Given the description of an element on the screen output the (x, y) to click on. 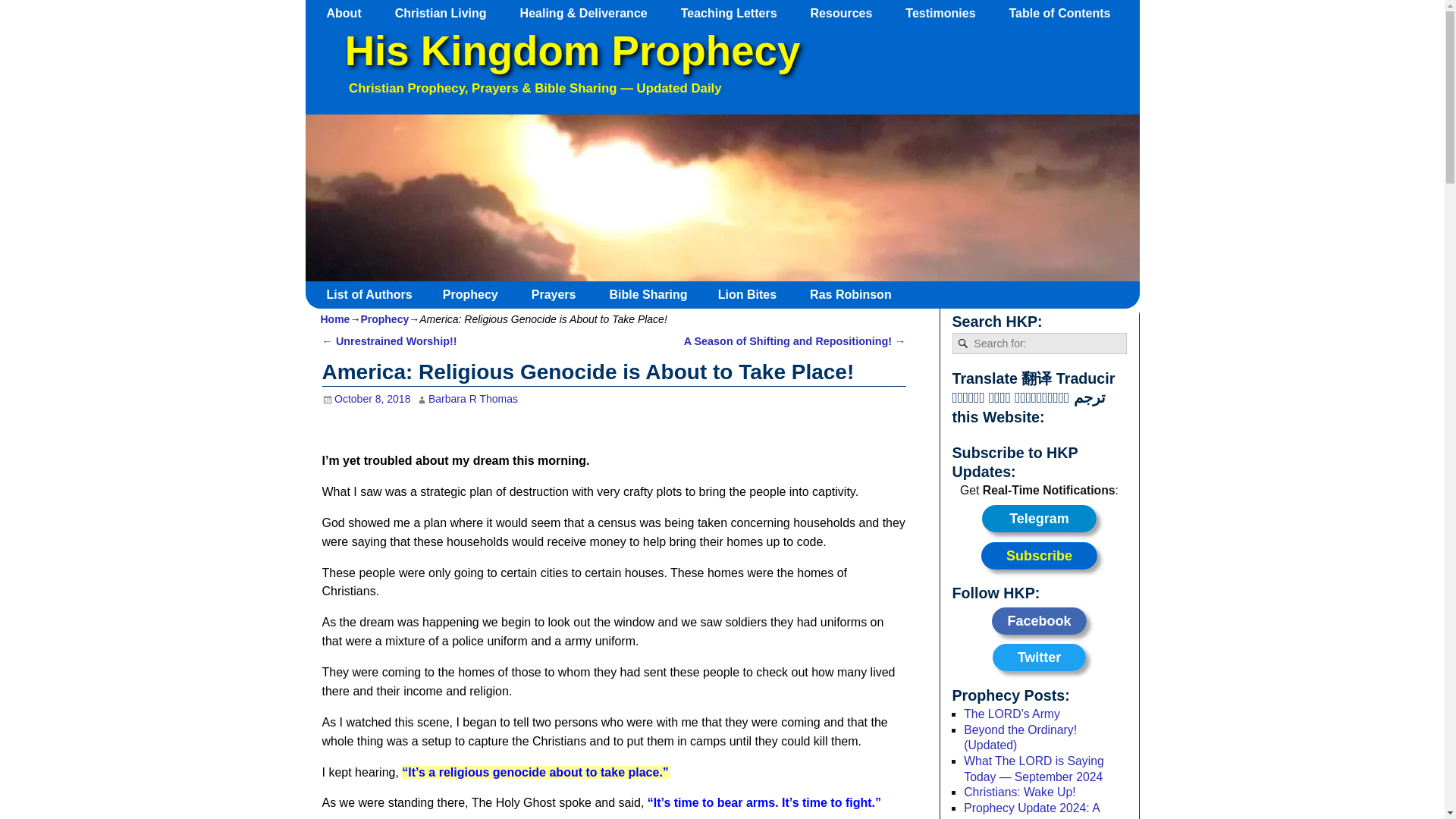
List of Authors (374, 294)
6:44 pm (365, 398)
Teaching Letters (736, 13)
Christian Living (448, 13)
His Kingdom Prophecy (571, 50)
Resources (849, 13)
View all posts by Barbara R Thomas (473, 398)
About (351, 13)
His Kingdom Prophecy (571, 50)
Testimonies (947, 13)
